Given the description of an element on the screen output the (x, y) to click on. 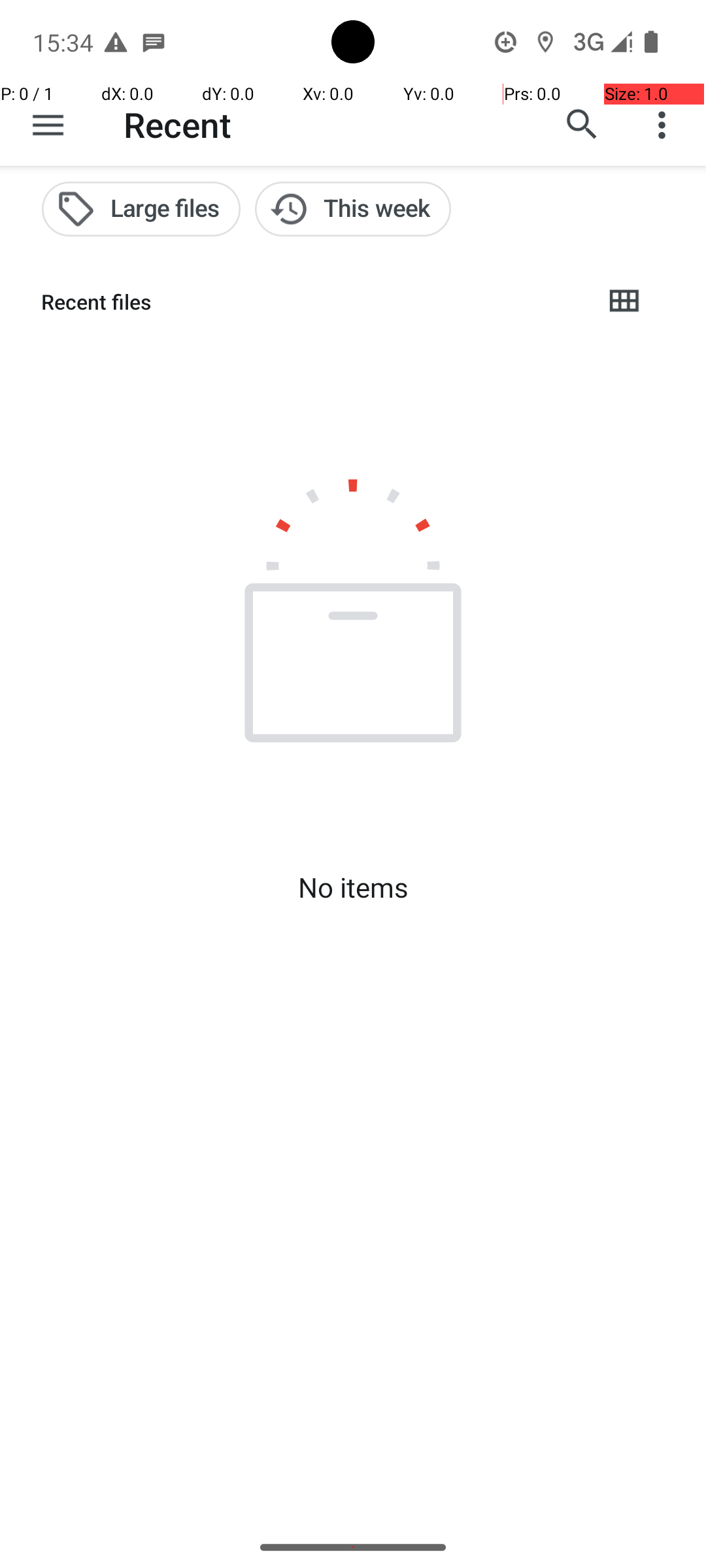
Show roots Element type: android.widget.ImageButton (48, 124)
Recent Element type: android.widget.TextView (177, 124)
Recent files Element type: android.widget.TextView (311, 301)
Grid view Element type: android.widget.TextView (622, 301)
Large files Element type: android.widget.CompoundButton (140, 208)
This week Element type: android.widget.CompoundButton (352, 208)
No items Element type: android.widget.TextView (353, 886)
